Given the description of an element on the screen output the (x, y) to click on. 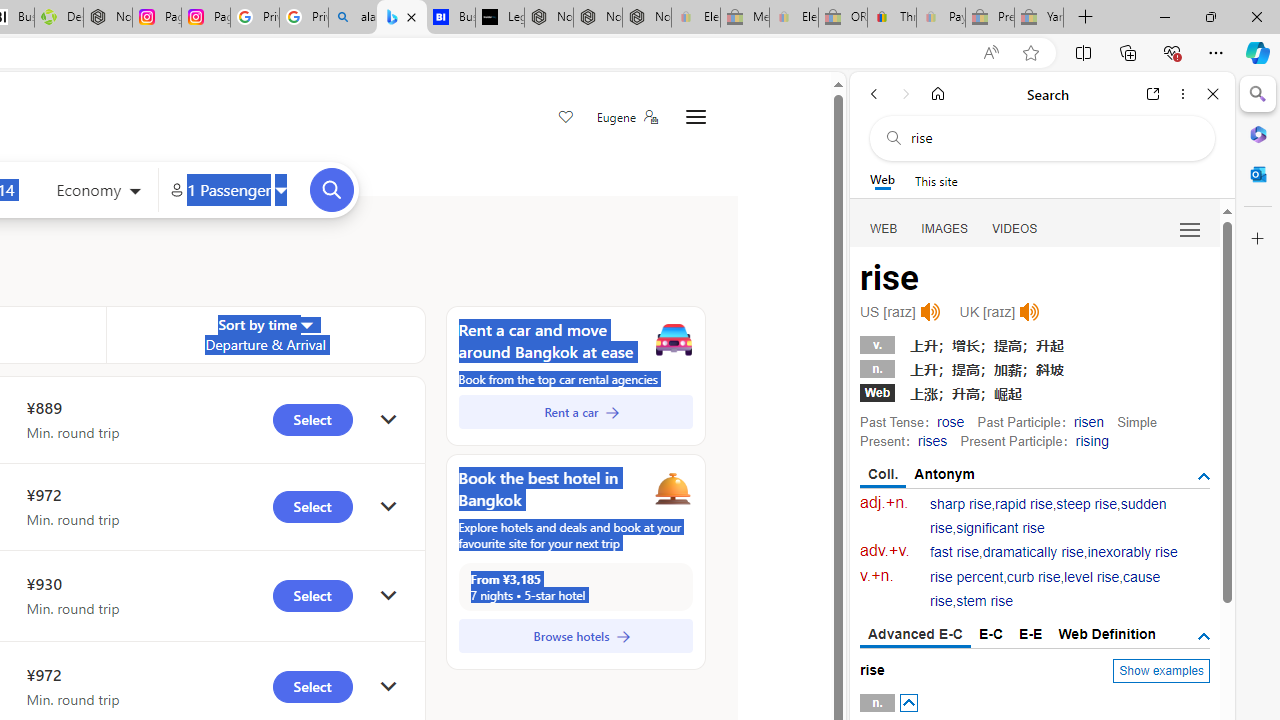
sudden rise (1048, 515)
Web Definition (1106, 633)
level rise (1091, 577)
click to get details (388, 687)
AutomationID: tgdef (1203, 636)
